Given the description of an element on the screen output the (x, y) to click on. 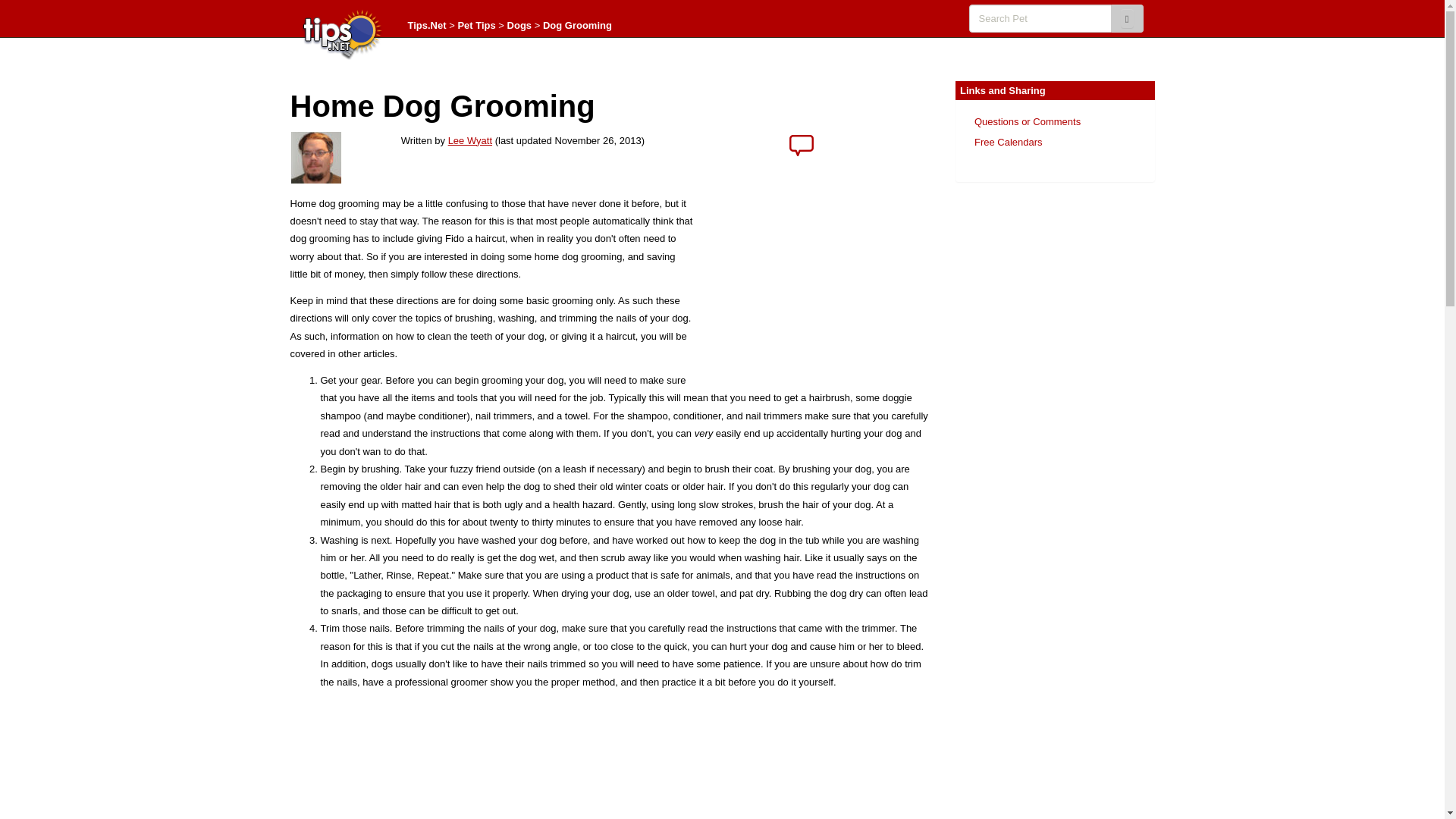
Advertisement (611, 760)
Advertisement (818, 278)
Pet Tips (476, 25)
Questions or Comments (1027, 120)
Tips.Net (426, 25)
Free Calendars (1008, 142)
Advertisement (1031, 699)
Dog Grooming (577, 25)
Dogs (519, 25)
Lee Wyatt (470, 140)
